Given the description of an element on the screen output the (x, y) to click on. 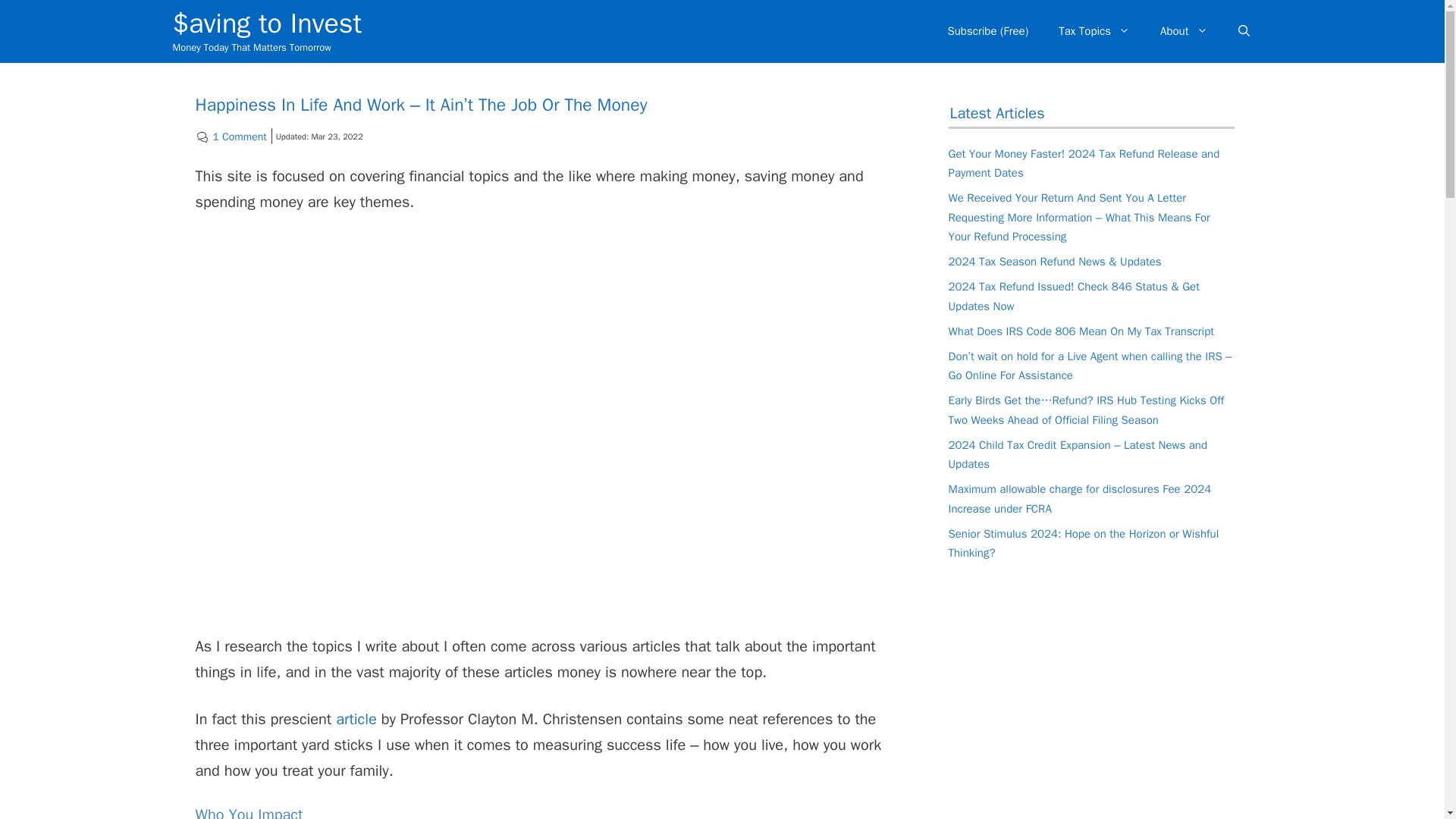
1 Comment (239, 136)
article (356, 719)
What Does IRS Code 806 Mean On My Tax Transcript (1080, 331)
Tax Topics (1093, 31)
About (1183, 31)
